Given the description of an element on the screen output the (x, y) to click on. 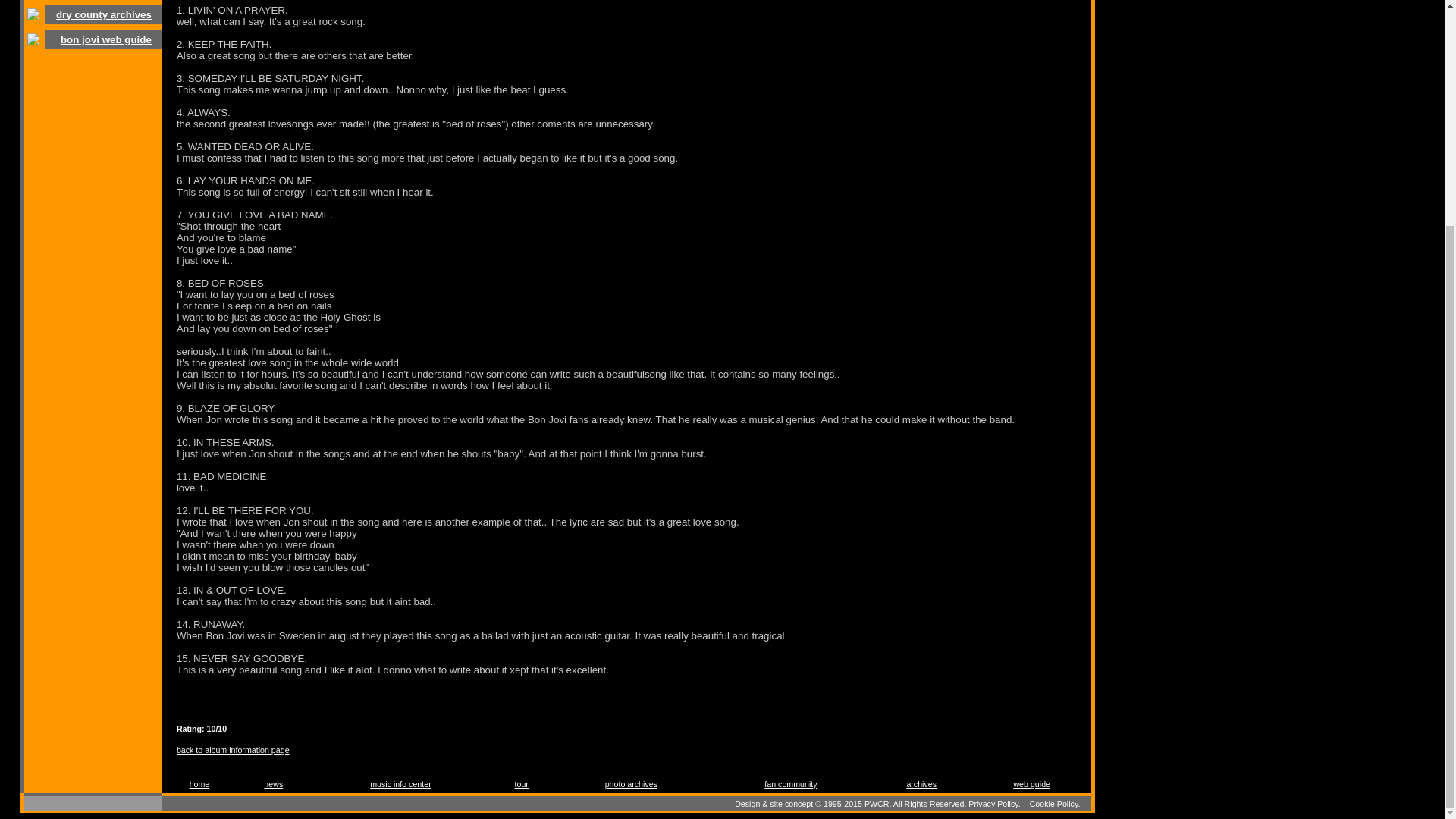
archives (920, 783)
fan community (790, 783)
Cookie Policy. (1054, 803)
Privacy Policy. (994, 803)
photo archives (631, 783)
PWCR (876, 803)
news (272, 783)
tour (520, 783)
home (199, 783)
dry county archives (103, 13)
back to album information page (232, 749)
music info center (399, 783)
bon jovi web guide (106, 39)
web guide (1031, 783)
